Given the description of an element on the screen output the (x, y) to click on. 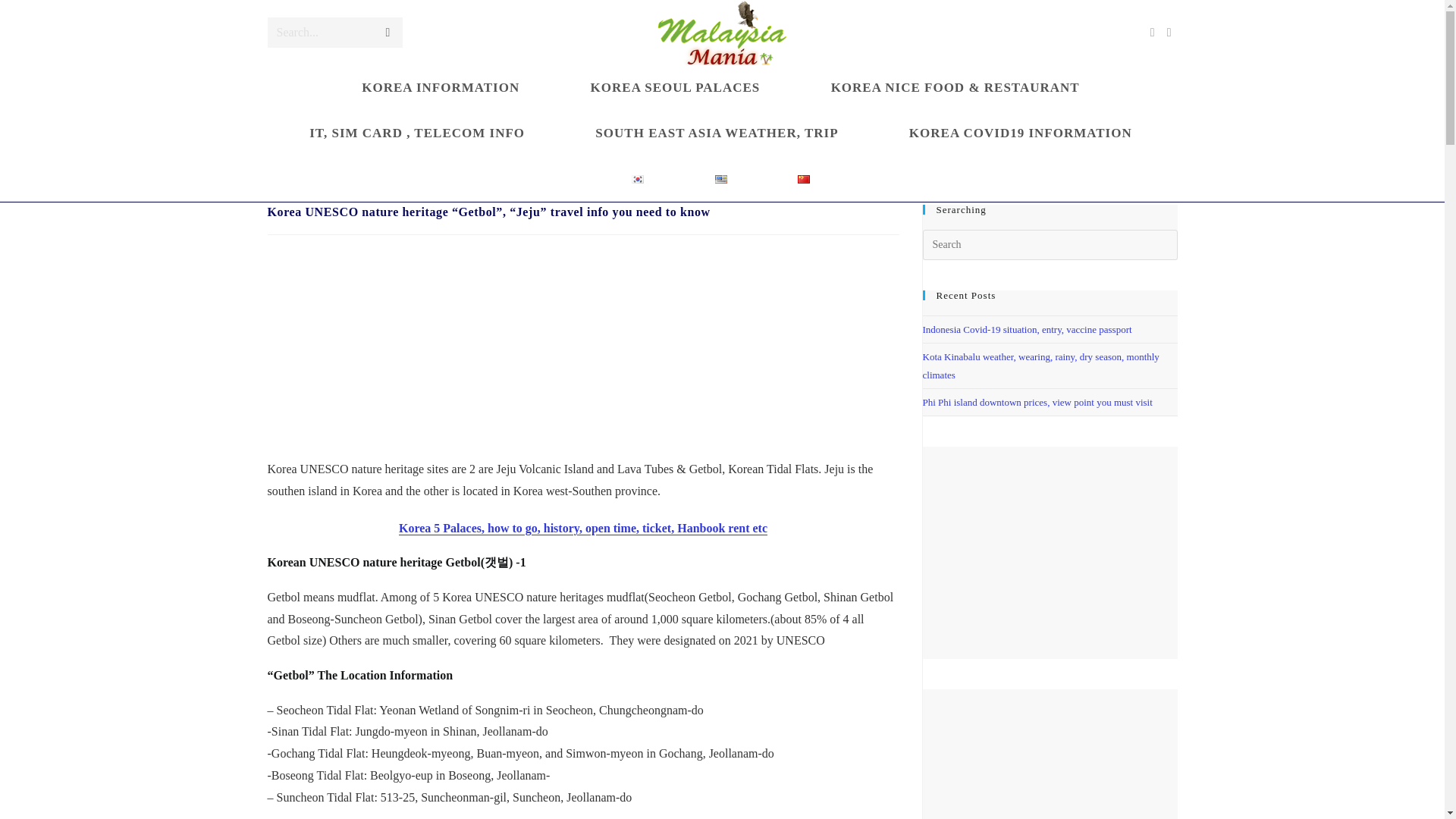
Advertisement (1048, 754)
Submit search (386, 32)
Advertisement (1048, 552)
KOREA INFORMATION (442, 87)
IT, SIM CARD , TELECOM INFO (419, 133)
Advertisement (582, 352)
SOUTH EAST ASIA WEATHER, TRIP (719, 133)
KOREA SEOUL PALACES (676, 87)
KOREA COVID19 INFORMATION (1022, 133)
